Given the description of an element on the screen output the (x, y) to click on. 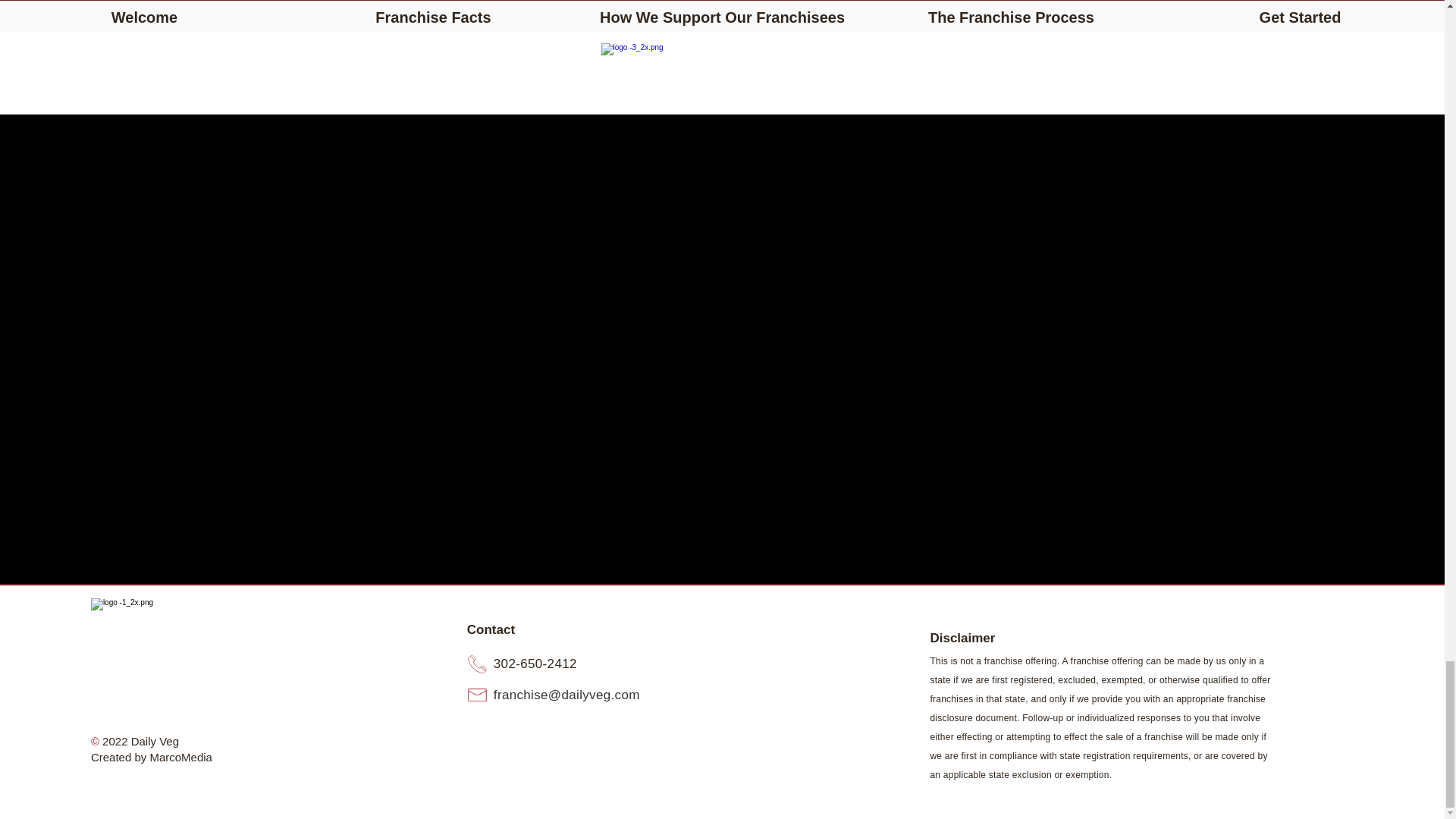
MarcoMedia (180, 757)
